Given the description of an element on the screen output the (x, y) to click on. 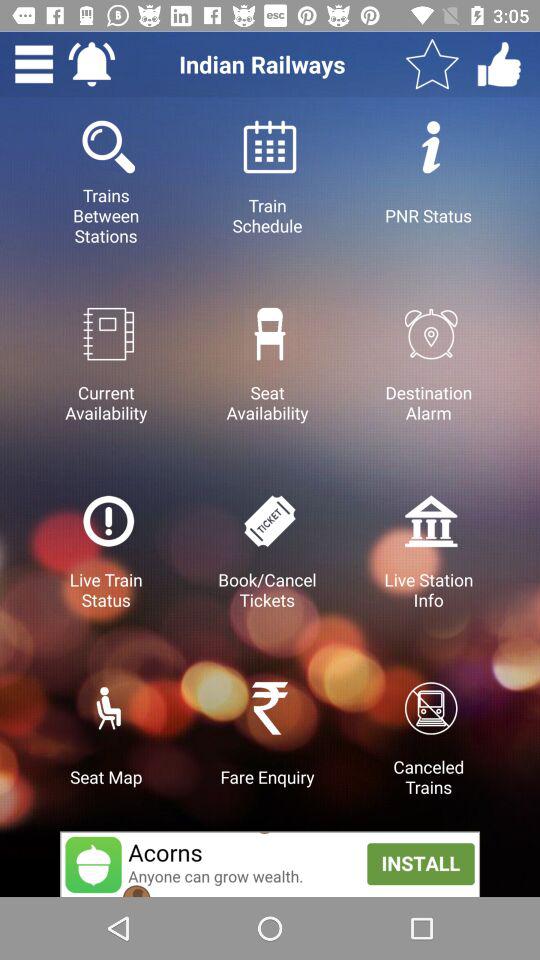
mark favorite option (432, 63)
